Given the description of an element on the screen output the (x, y) to click on. 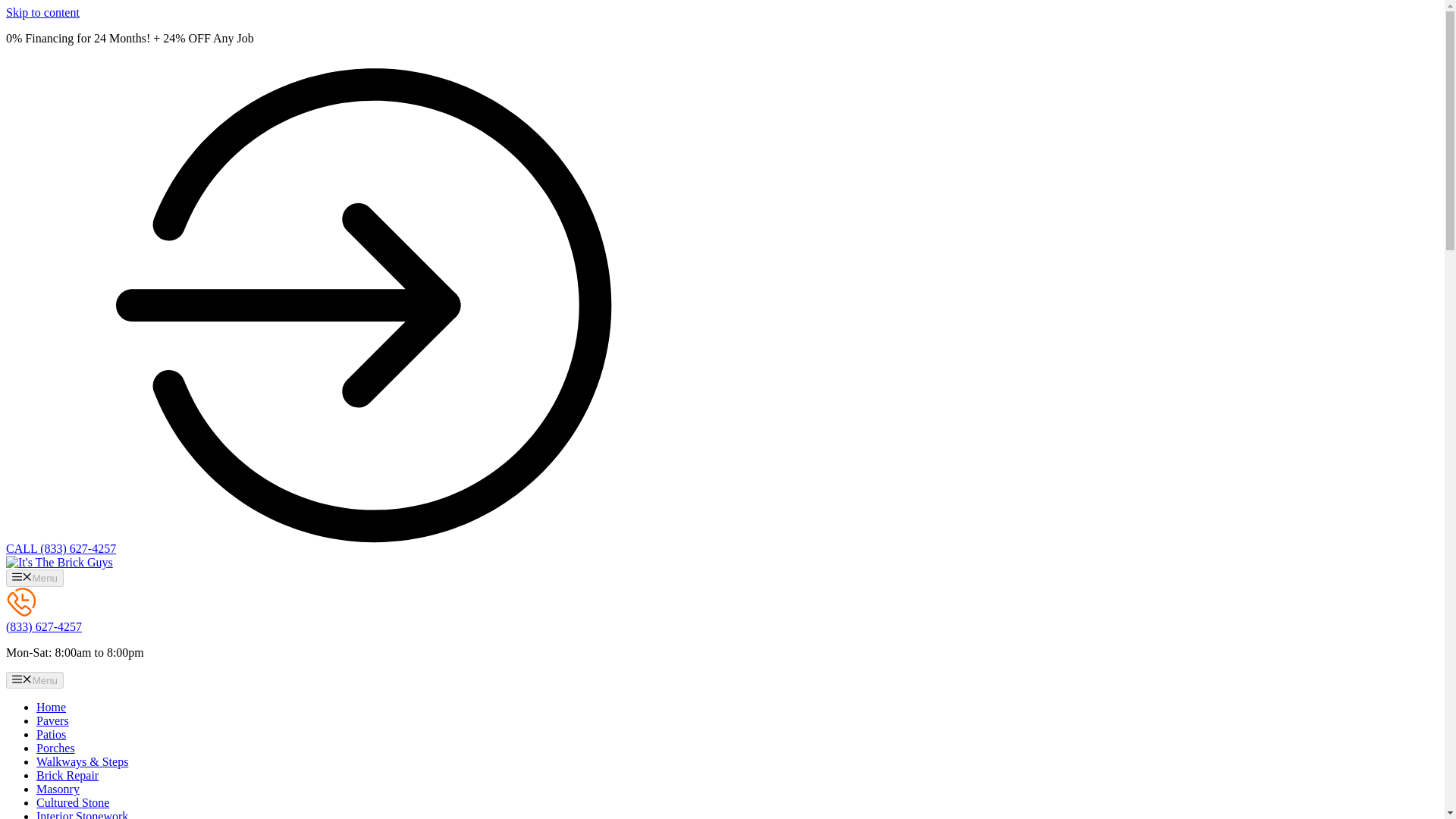
Brick Repair (67, 775)
Patios (50, 734)
Skip to content (42, 11)
Menu (34, 577)
Interior Stonework (82, 814)
Skip to content (42, 11)
Home (50, 707)
Menu (34, 679)
Porches (55, 748)
Pavers (52, 720)
